Given the description of an element on the screen output the (x, y) to click on. 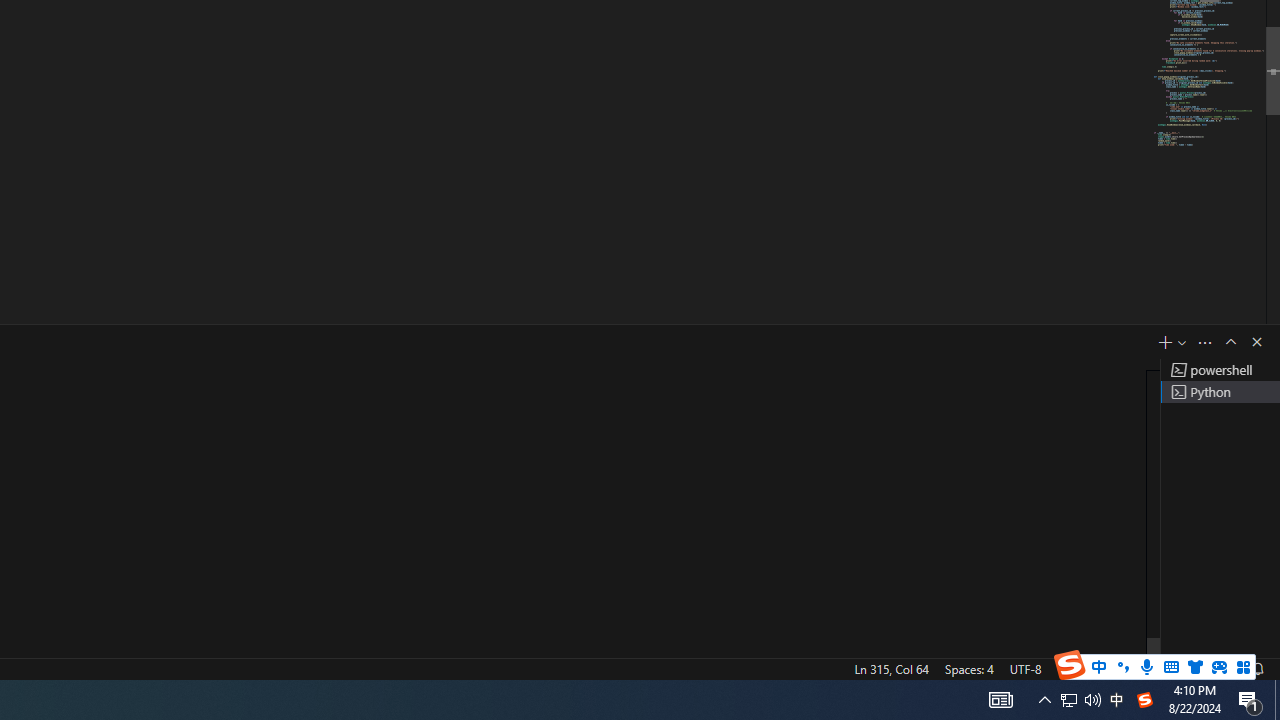
Class: NetUIButton (1119, 592)
Print Layout (924, 640)
Zoom (1116, 640)
Show Preview (1067, 524)
Zoom Out (1067, 640)
